Given the description of an element on the screen output the (x, y) to click on. 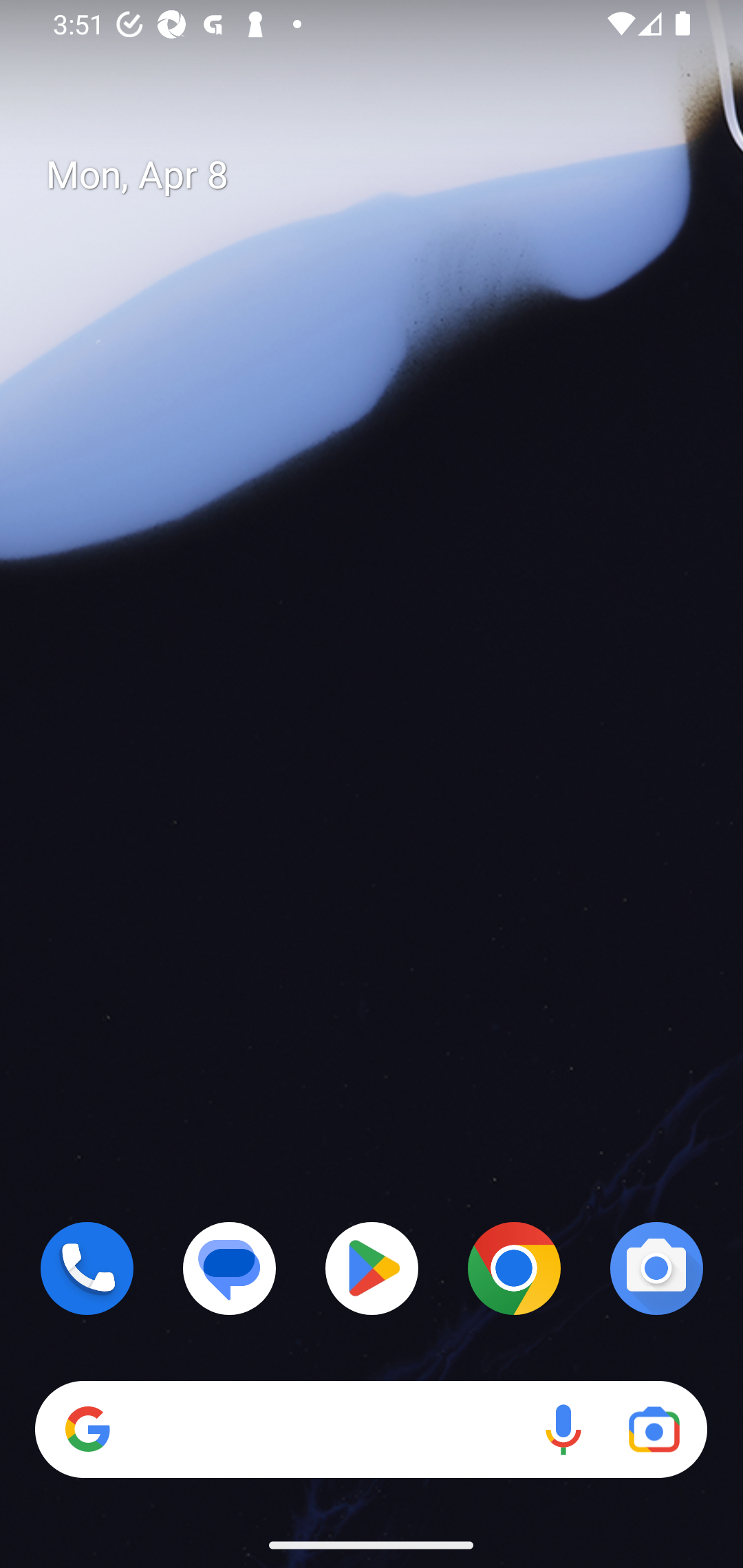
Mon, Apr 8 (386, 175)
Phone (86, 1268)
Messages (229, 1268)
Play Store (371, 1268)
Chrome (513, 1268)
Camera (656, 1268)
Search Voice search Google Lens (370, 1429)
Voice search (562, 1429)
Google Lens (653, 1429)
